Given the description of an element on the screen output the (x, y) to click on. 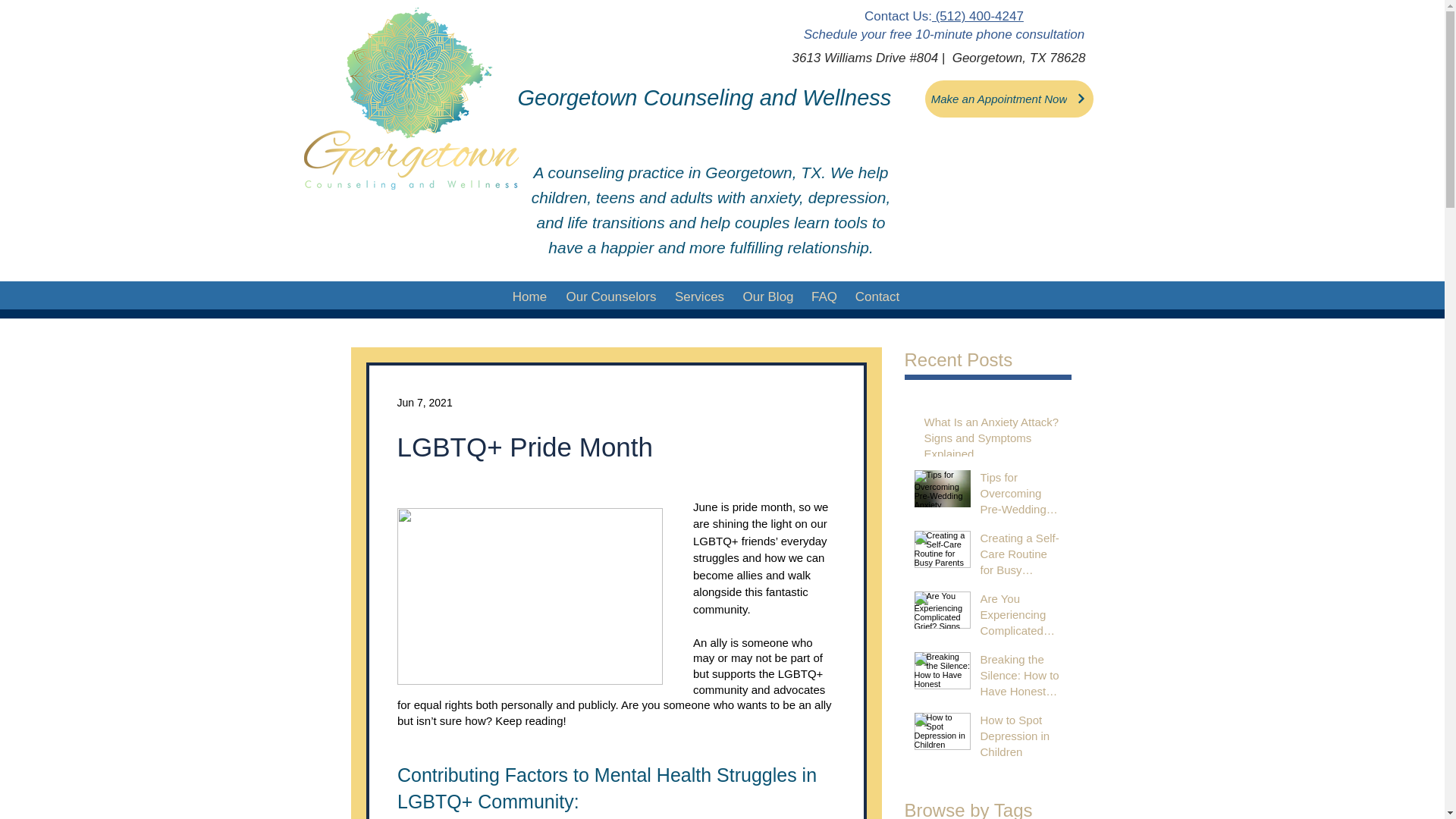
Our Blog (768, 296)
Home (529, 296)
Creating a Self-Care Routine for Busy Parents (1020, 556)
FAQ (823, 296)
Jun 7, 2021 (424, 401)
Contact (877, 296)
Tips for Overcoming Pre-Wedding Anxiety (1020, 496)
Make an Appointment Now (1008, 98)
What Is an Anxiety Attack? Signs and Symptoms Explained (992, 440)
